Given the description of an element on the screen output the (x, y) to click on. 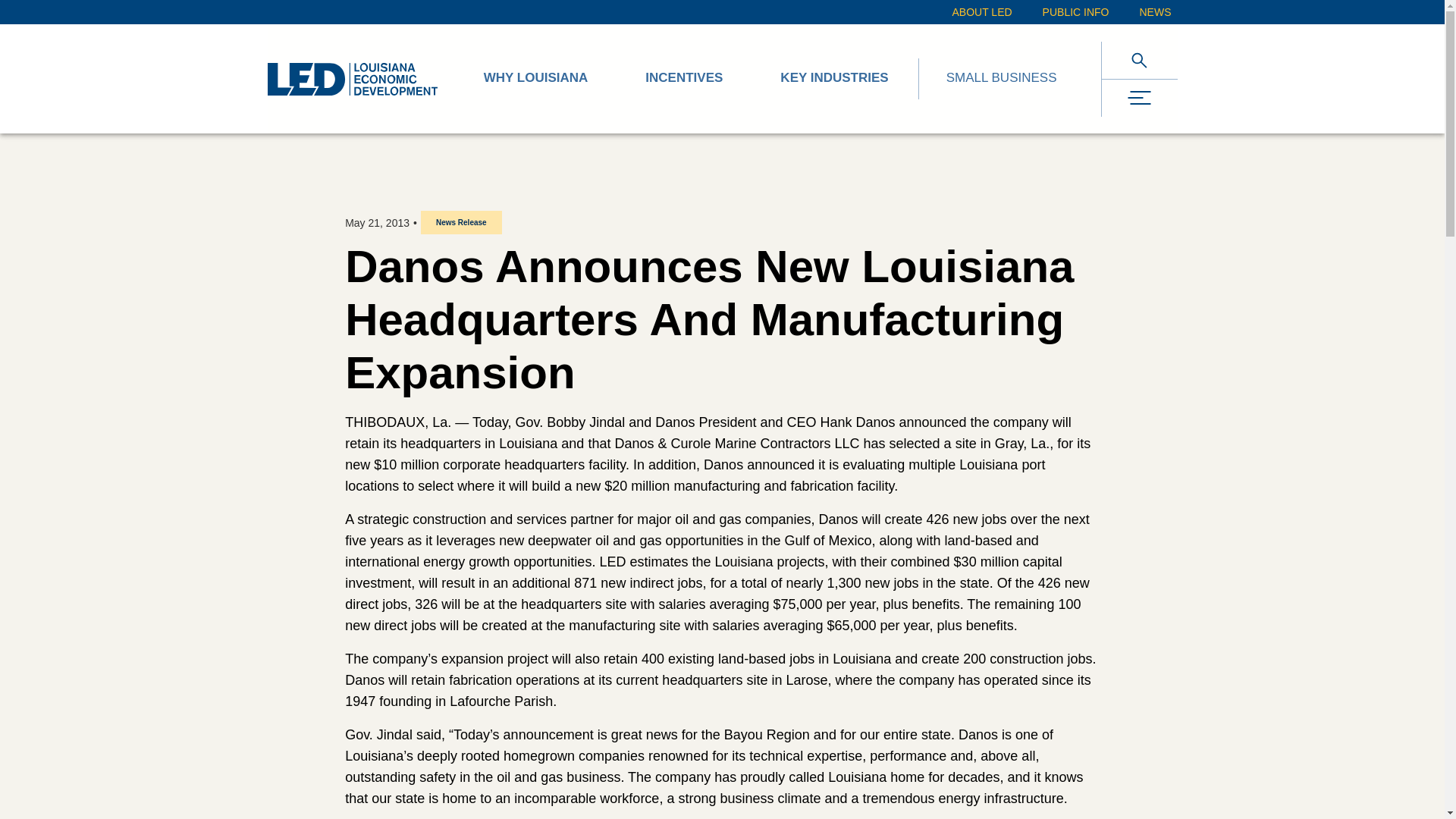
ABOUT LED (980, 12)
Skip To Main Content (15, 11)
NEWS (1154, 12)
WHY LOUISIANA (535, 78)
PUBLIC INFO (1075, 12)
KEY INDUSTRIES (833, 78)
INCENTIVES (684, 78)
